Given the description of an element on the screen output the (x, y) to click on. 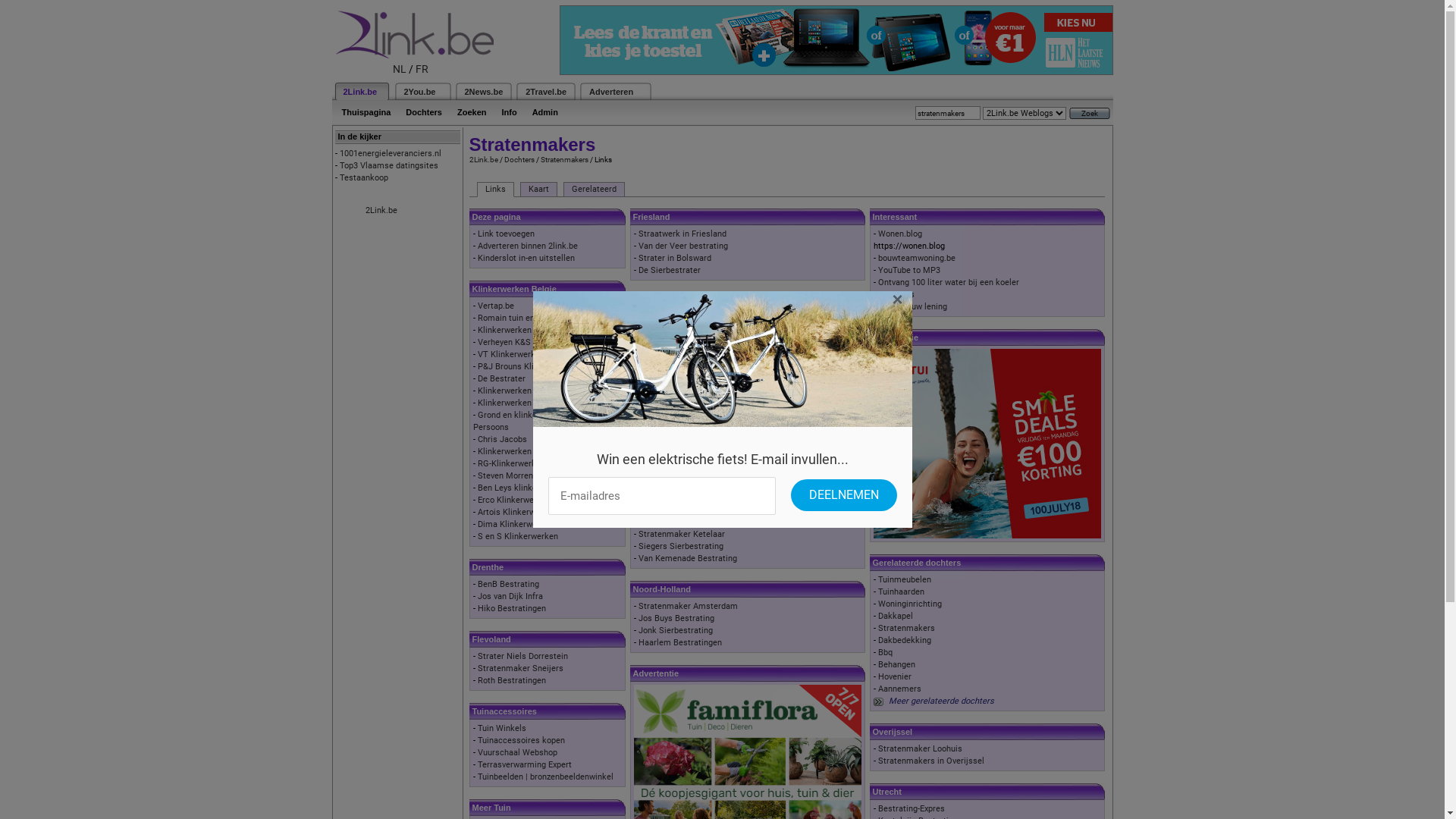
Klinkerwerken Bowi Meerdonk Element type: text (534, 451)
Otterdijk Bestratingen Element type: text (680, 486)
Stratenmakers in Overijssel Element type: text (931, 760)
Meer gerelateerde dochters Element type: text (941, 701)
Top3 Vlaamse datingsites Element type: text (388, 165)
Van der Veer bestrating Element type: text (683, 246)
Woninginrichting Element type: text (909, 603)
Verheyen K&S Element type: text (503, 342)
Erco Klinkerwerken Element type: text (513, 500)
YouTube to MP3 Element type: text (909, 270)
Hovenier Element type: text (894, 676)
RG-Klinkerwerken Element type: text (511, 463)
Steven Morren Element type: text (505, 475)
Bouwgids Element type: text (896, 294)
Zwik Bestrating Element type: text (668, 426)
Zoek Element type: text (1089, 113)
Romain tuin en klinkerwerken Element type: text (533, 318)
Stratenmakers Element type: text (906, 628)
Sierbestrating.nl Element type: text (669, 318)
Terrasverwarming Expert Element type: text (524, 764)
Link toevoegen Element type: text (505, 233)
Stratenmaker Loohuis Element type: text (920, 748)
Sierbestrating Groningen Element type: text (685, 390)
BenB Bestrating Element type: text (508, 584)
Siegers Sierbestrating Element type: text (680, 546)
Straatwerk in Friesland Element type: text (682, 233)
P&J Brouns Klinkerwerken Element type: text (527, 366)
2Link.be Element type: text (482, 159)
Tuinaccessoires kopen Element type: text (520, 740)
De Sierbestrater Element type: text (669, 270)
2Link.be Element type: text (381, 210)
Dima Klinkerwerken Element type: text (515, 524)
Dochters Element type: text (423, 111)
Dochters Element type: text (518, 159)
Straatmakersbedrijf Nijborg Element type: text (691, 414)
Bereken uw lening Element type: text (912, 306)
Admin Element type: text (544, 111)
Ben Leys klinkers & kasseien Element type: text (532, 487)
2News.be Element type: text (483, 91)
Tuin Winkels Element type: text (501, 728)
Gerelateerd Element type: text (593, 189)
Bestrating-Expres Element type: text (911, 808)
Ontvang 100 liter water bij een koeler Element type: text (948, 282)
Tuinmeubelen Element type: text (904, 579)
Stratenmakersbedrijf van Woezik Element type: text (701, 474)
Dakkapel Element type: text (895, 616)
2You.be Element type: text (419, 91)
Grond en klinkerwerken Joris Persoons Element type: text (530, 421)
bouwteamwoning.be Element type: text (916, 258)
Aannemers Element type: text (899, 688)
Buurke Bestratingen Element type: text (676, 402)
Stratenmakers Element type: text (563, 159)
Adverteren Element type: text (611, 91)
Van Essen bestratingen Element type: text (683, 330)
S en S Klinkerwerken Element type: text (517, 536)
VT Klinkerwerken Element type: text (510, 354)
Jos Buys Bestrating Element type: text (676, 618)
Stratenmaker Sneijers Element type: text (520, 668)
Kinderslot in-en uitstellen Element type: text (525, 258)
2Travel.be Element type: text (545, 91)
FR Element type: text (421, 68)
De Bestrater Element type: text (501, 378)
Roth Bestratingen Element type: text (511, 680)
Kaart Element type: text (538, 189)
Adverteren binnen 2link.be Element type: text (527, 246)
Zoeken Element type: text (471, 111)
Van Kemenade Bestrating Element type: text (687, 558)
Haarlem Bestratingen Element type: text (679, 642)
NL Element type: text (399, 68)
Klinkerwerken Bauweleers Element type: text (527, 402)
Tuinbeelden | bronzenbeeldenwinkel Element type: text (545, 776)
Stratenmaker Ketelaar Element type: text (681, 534)
Tuinhaarden Element type: text (901, 591)
Stratenmaker Amsterdam Element type: text (687, 606)
Wonen.blog Element type: text (900, 233)
Artois Klinkerwerken bvba Element type: text (526, 512)
Dakbedekking Element type: text (904, 640)
Vuurschaal Webshop Element type: text (517, 752)
Vertap.be Element type: text (495, 305)
Strater Niels Dorrestein Element type: text (522, 656)
Thuispagina Element type: text (365, 111)
1001energieleveranciers.nl Element type: text (390, 153)
Jos van Dijk Infra Element type: text (509, 596)
Bbq Element type: text (885, 652)
Testaankoop Element type: text (363, 177)
Chris Jacobs Element type: text (502, 439)
Strater in Bolsward Element type: text (674, 258)
Reijmer Sierbestrating Element type: text (681, 342)
Behangen Element type: text (896, 664)
Klinkerwerken Van Acker Patrick Element type: text (539, 330)
Hiko Bestratingen Element type: text (511, 608)
Klinkerwerken Adriaens Element type: text (522, 390)
2Link.be Element type: text (359, 91)
Links Element type: text (494, 189)
Jonk Sierbestrating Element type: text (675, 630)
Info Element type: text (508, 111)
